Given the description of an element on the screen output the (x, y) to click on. 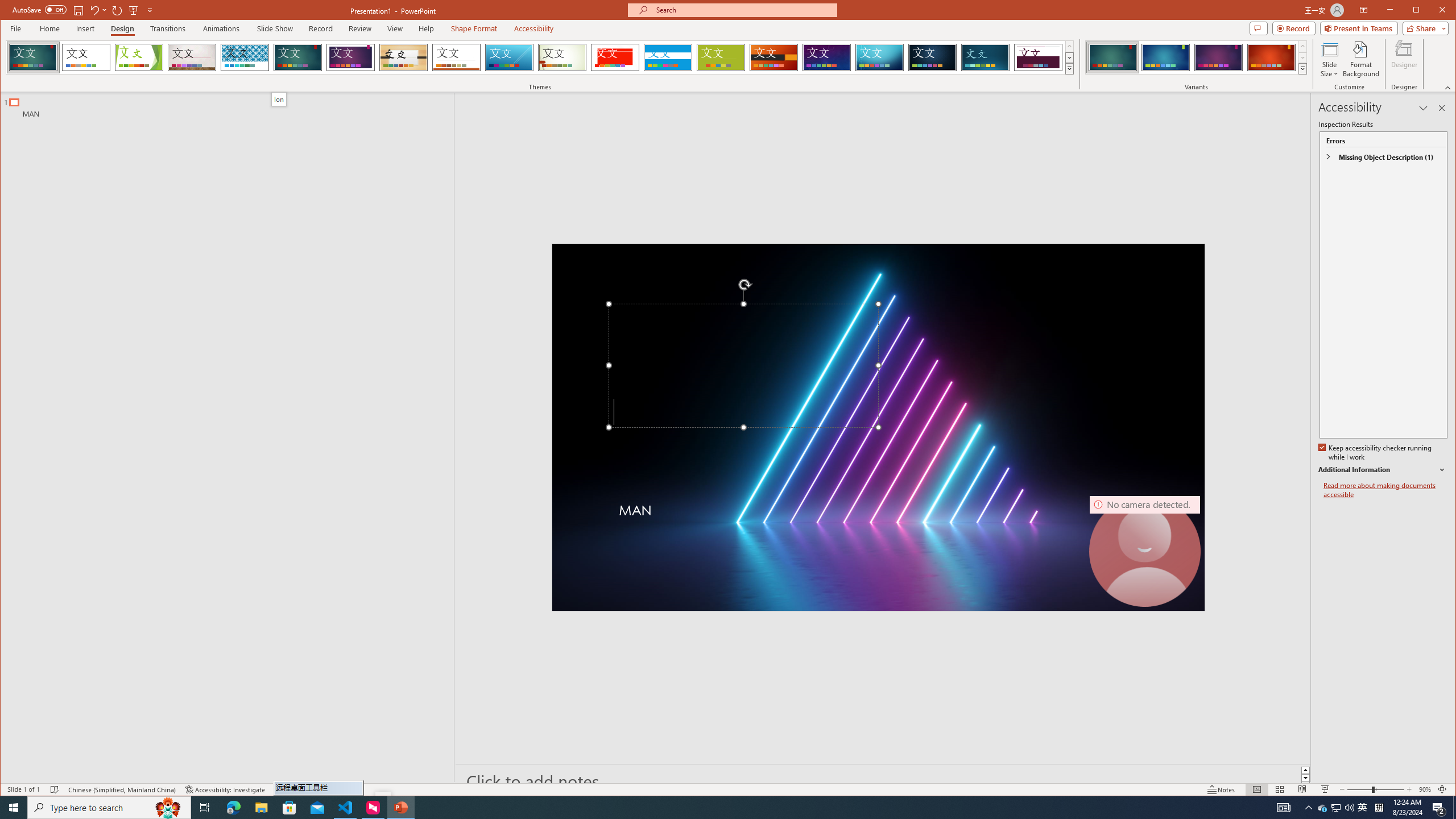
Action Center, 2 new notifications (1439, 807)
More Options (105, 9)
Additional Information (1382, 469)
Transitions (167, 28)
Ion Variant 1 (1112, 57)
Microsoft search (742, 10)
Q2790: 100% (1349, 807)
Slice (509, 57)
Integral (244, 57)
Facet (138, 57)
Collapse the Ribbon (1448, 87)
